Given the description of an element on the screen output the (x, y) to click on. 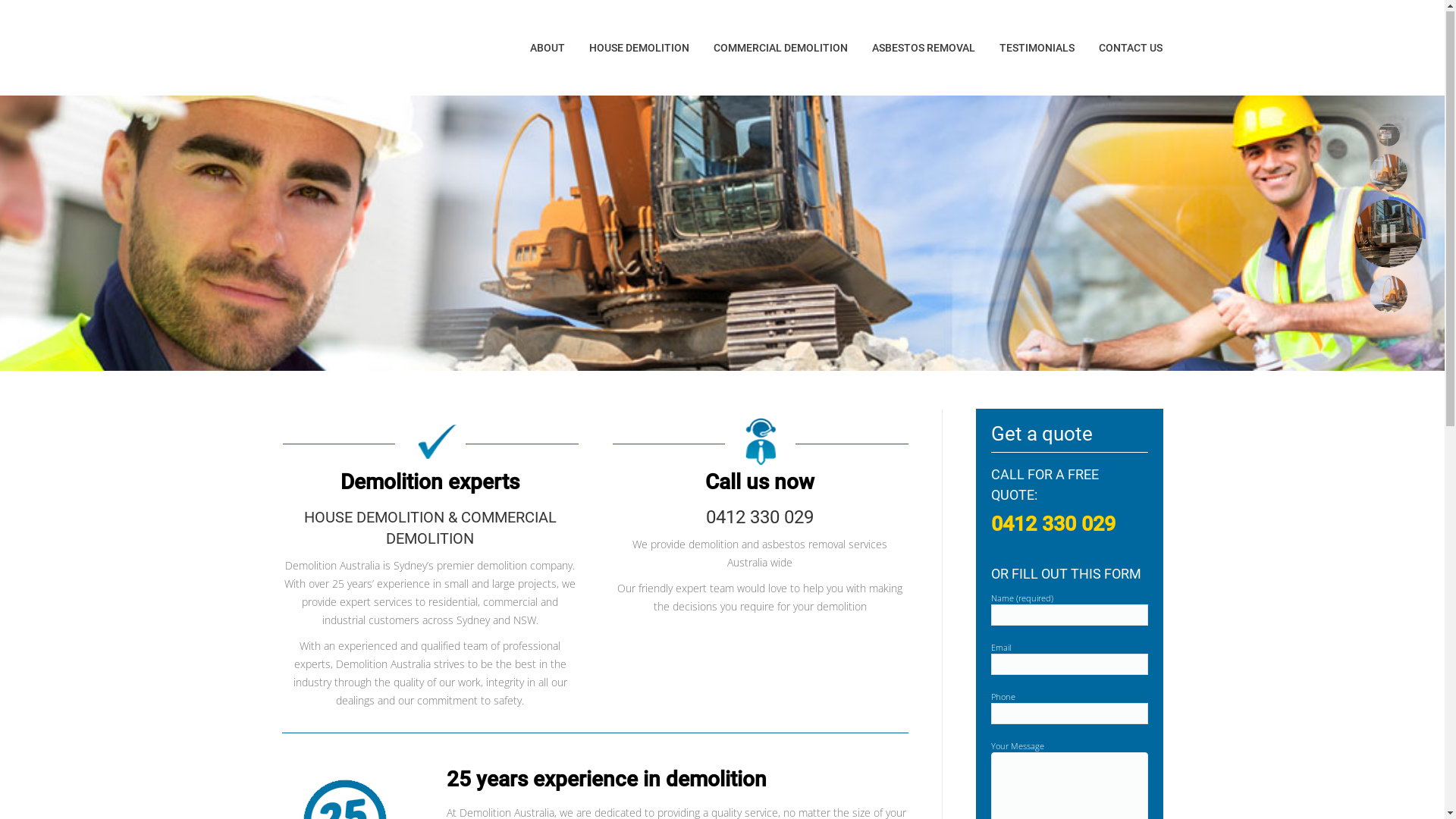
0412 330 029 Element type: text (759, 517)
ASBESTOS REMOVAL Element type: text (922, 48)
TESTIMONIALS Element type: text (1035, 48)
0412 330 029 Element type: text (1053, 524)
CONTACT US Element type: text (1130, 48)
HOUSE DEMOLITION Element type: text (639, 48)
ABOUT Element type: text (547, 48)
COMMERCIAL DEMOLITION Element type: text (780, 48)
